Given the description of an element on the screen output the (x, y) to click on. 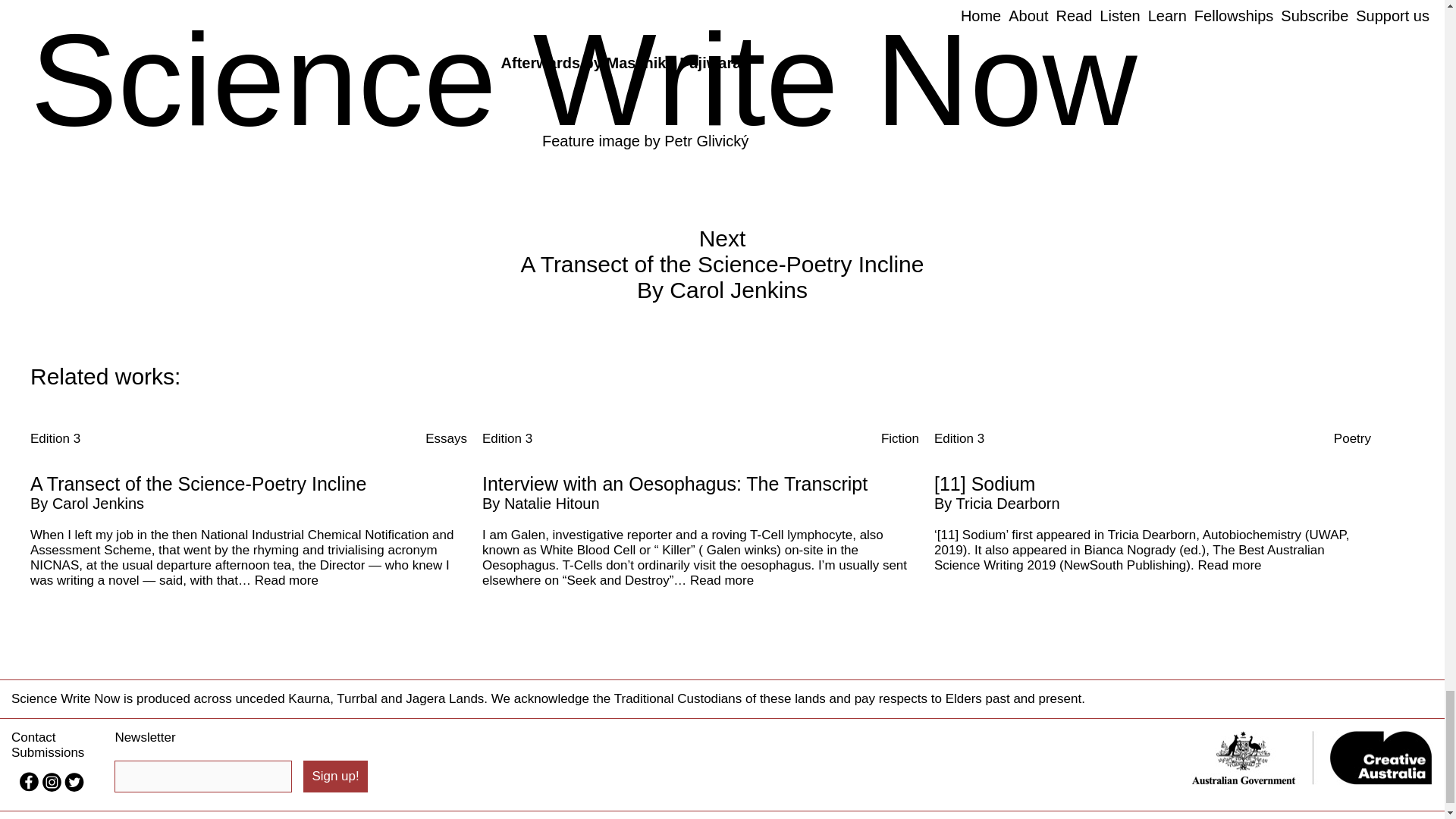
find us in facebook.com (31, 787)
find us in twitter.com (74, 787)
Fiction (899, 438)
Edition 3 (55, 438)
Essays (446, 438)
find us in instagram.com (53, 787)
Sign up! (334, 776)
Carol Jenkins (98, 503)
Read more (286, 580)
